Given the description of an element on the screen output the (x, y) to click on. 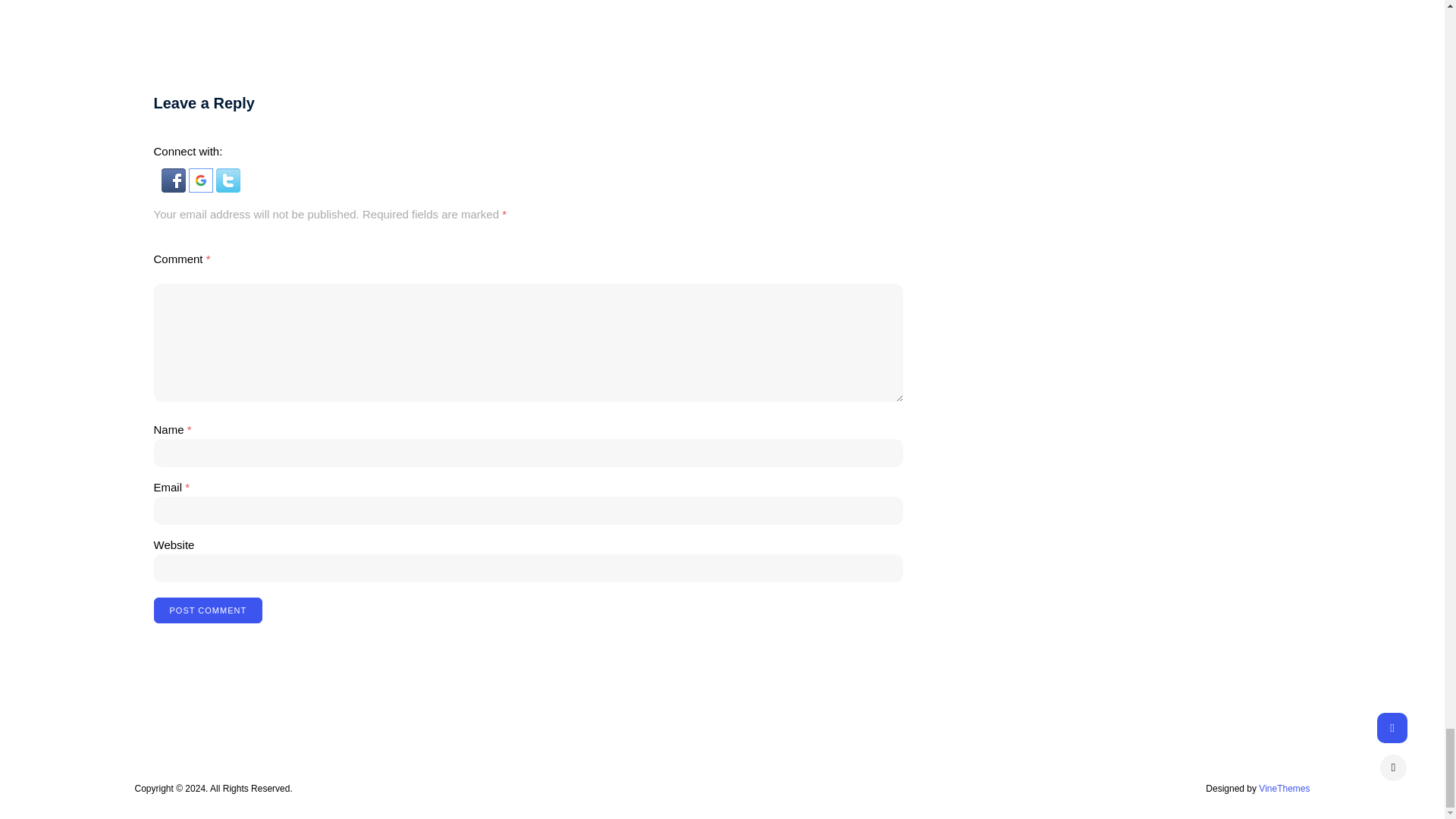
Post Comment (207, 610)
Connect with Twitter (227, 187)
Connect with Facebook (173, 187)
Connect with Google (202, 187)
